Given the description of an element on the screen output the (x, y) to click on. 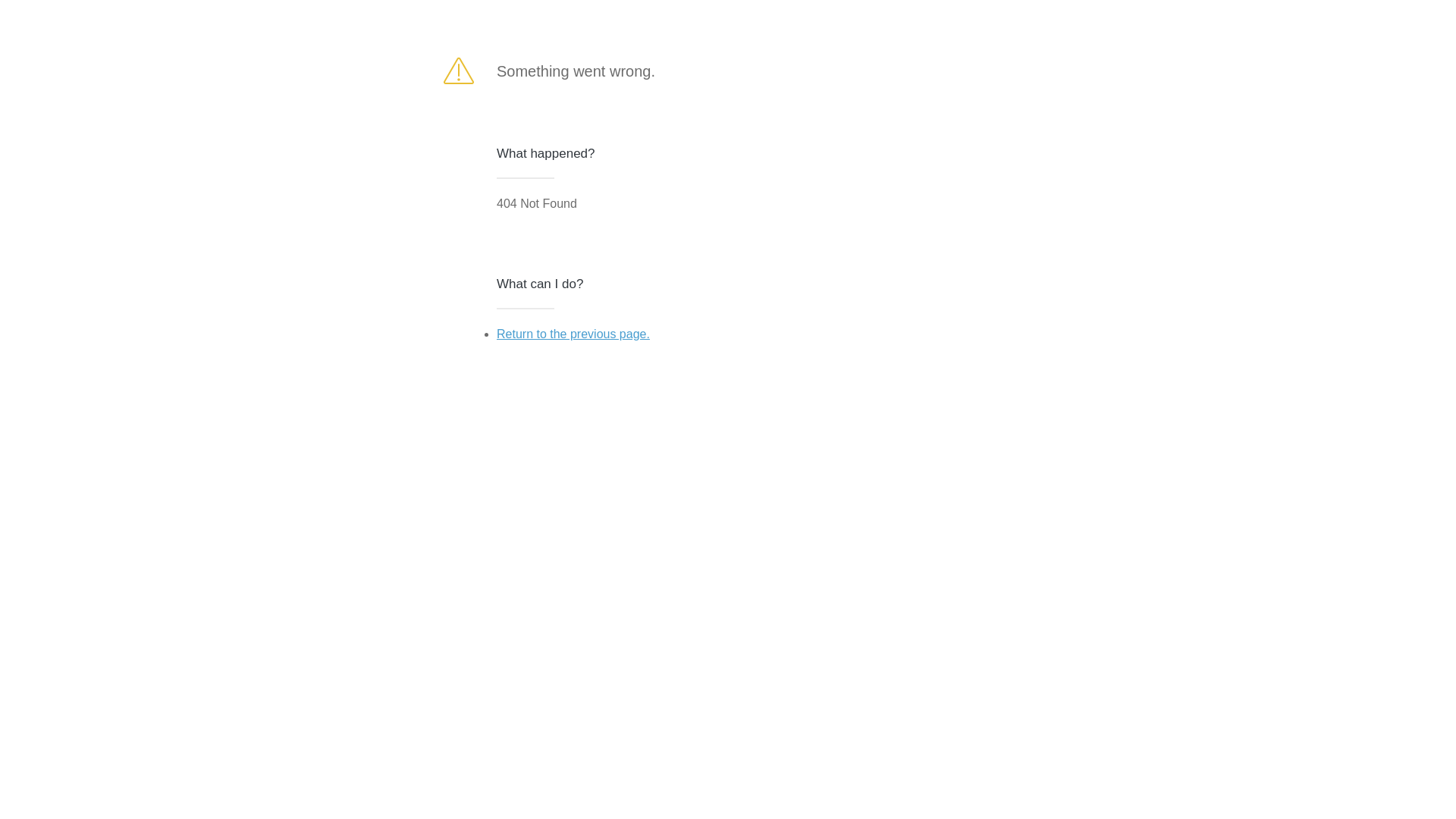
Return to the previous page. Element type: text (572, 333)
